Given the description of an element on the screen output the (x, y) to click on. 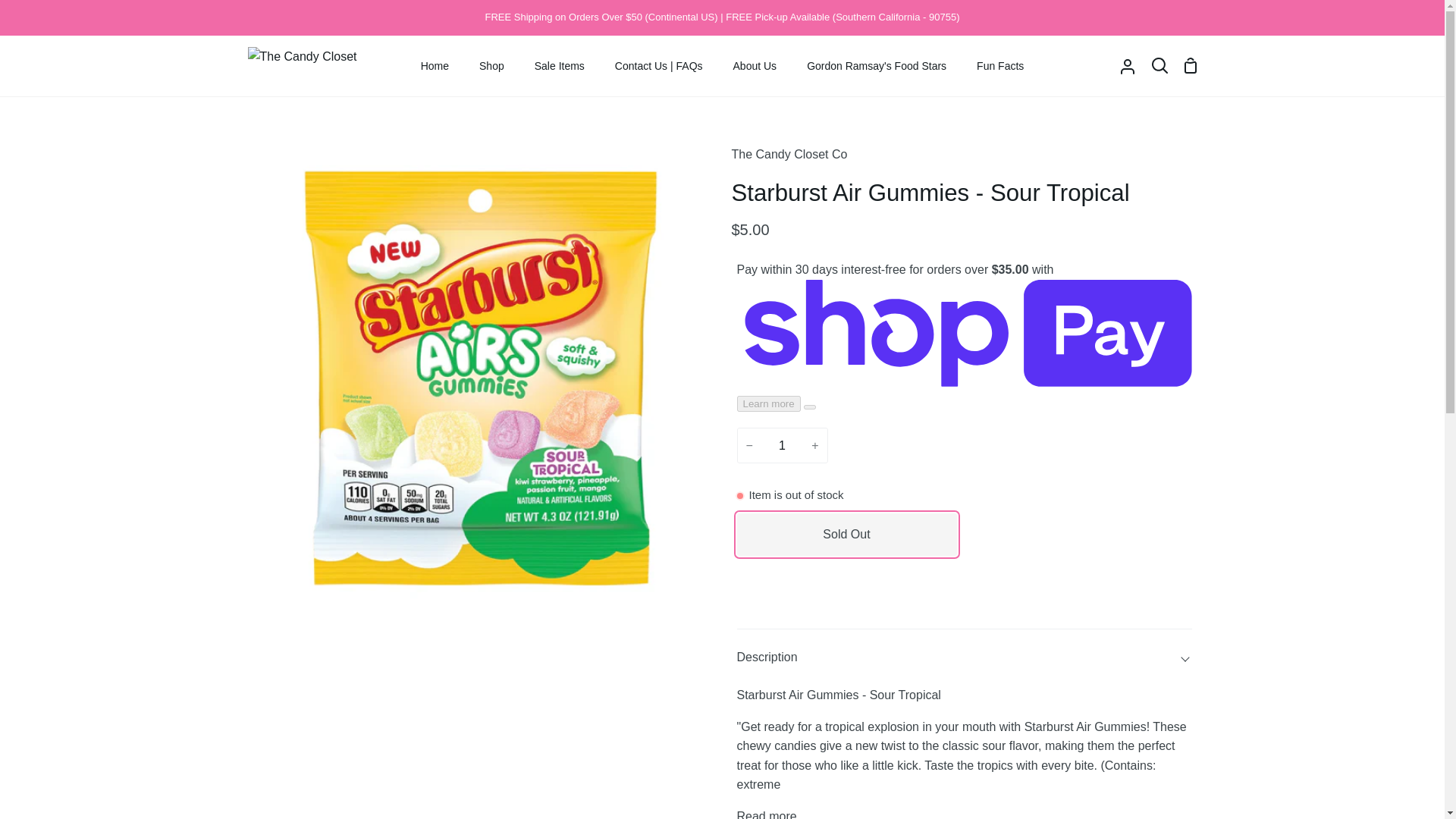
Shop (491, 66)
Gordon Ramsay's Food Stars (876, 66)
Sale Items (559, 66)
Home (435, 66)
About Us (754, 66)
1 (782, 445)
Fun Facts (999, 66)
